Given the description of an element on the screen output the (x, y) to click on. 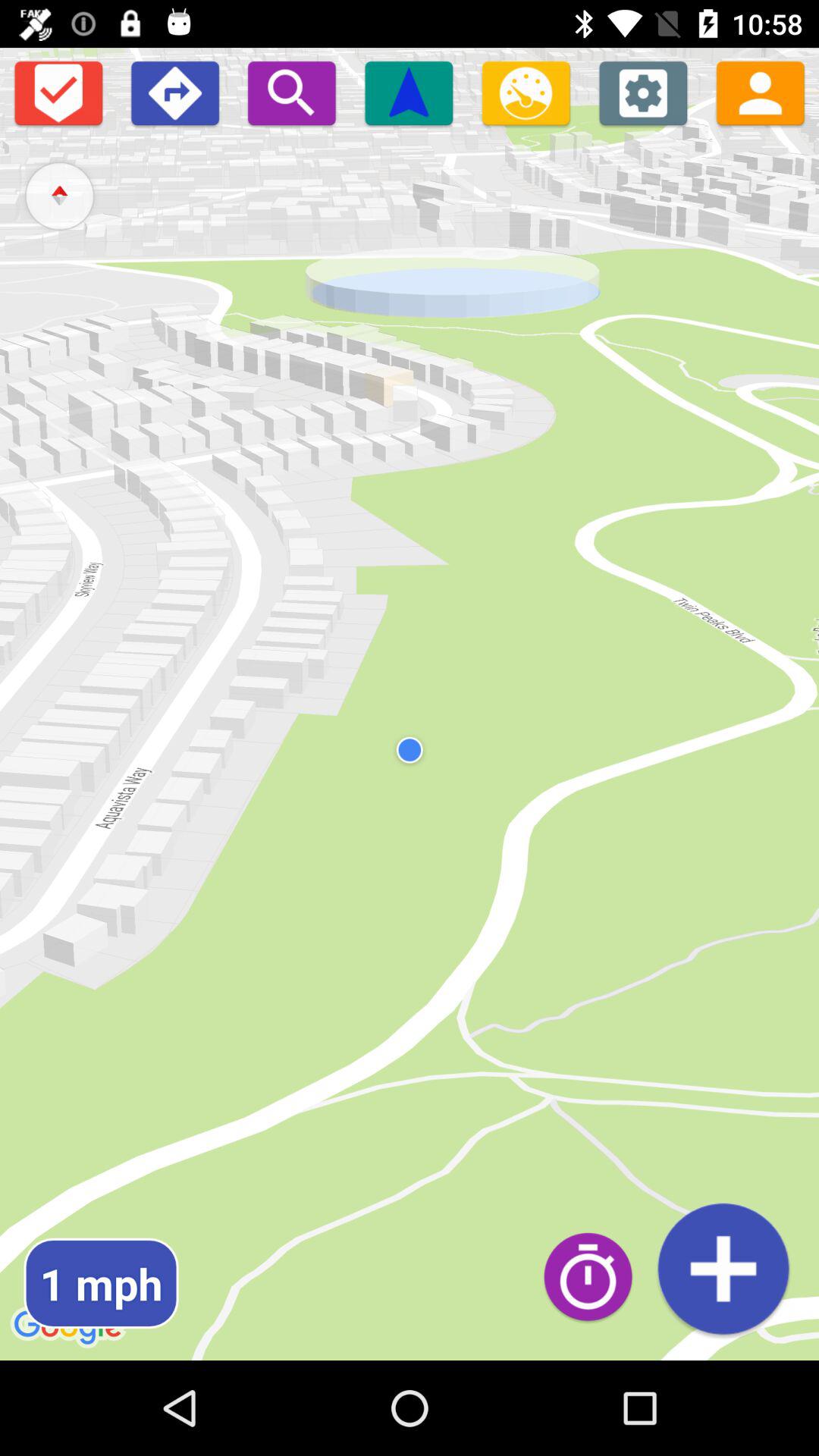
zoom in (291, 92)
